Given the description of an element on the screen output the (x, y) to click on. 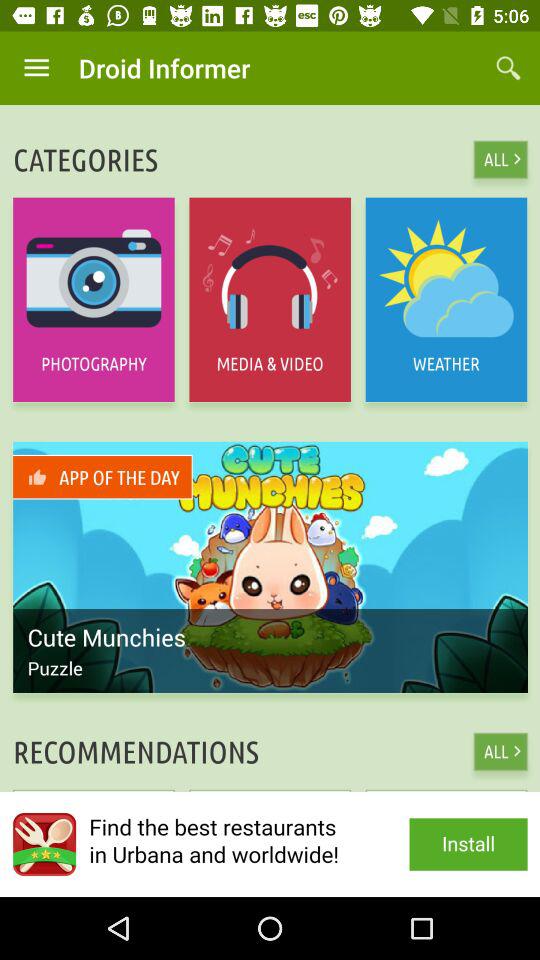
install app (270, 844)
